Given the description of an element on the screen output the (x, y) to click on. 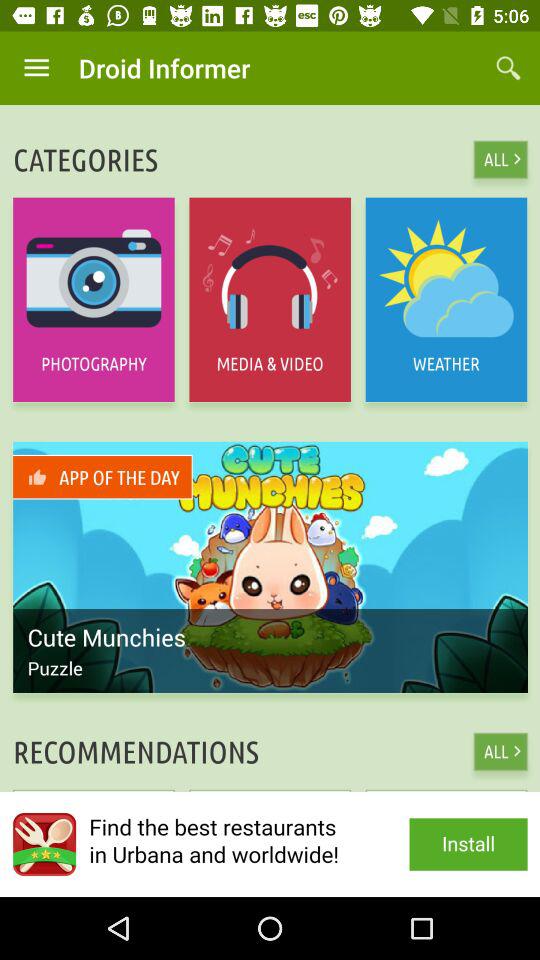
install app (270, 844)
